Given the description of an element on the screen output the (x, y) to click on. 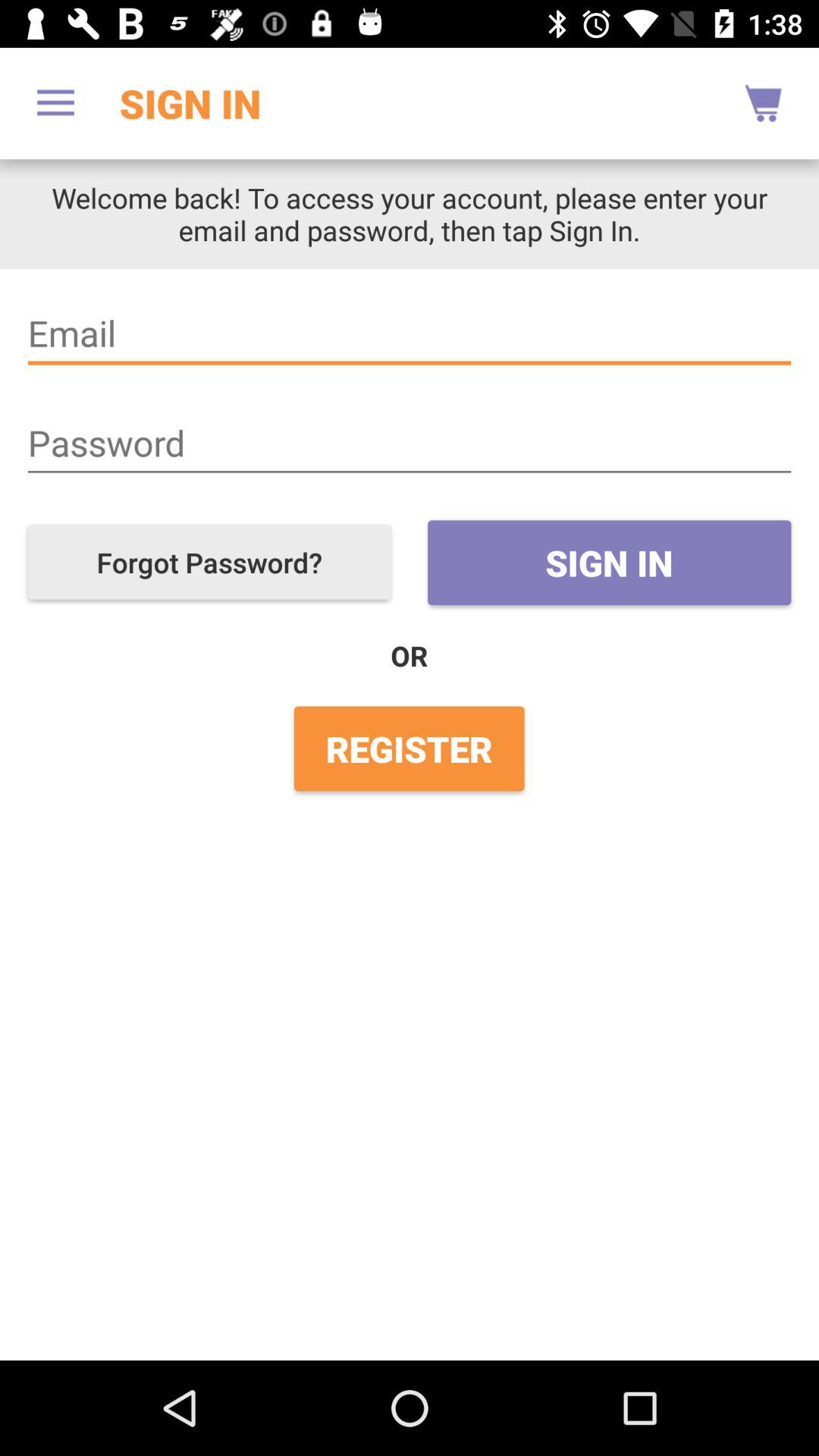
turn on the item next to sign in app (763, 103)
